Given the description of an element on the screen output the (x, y) to click on. 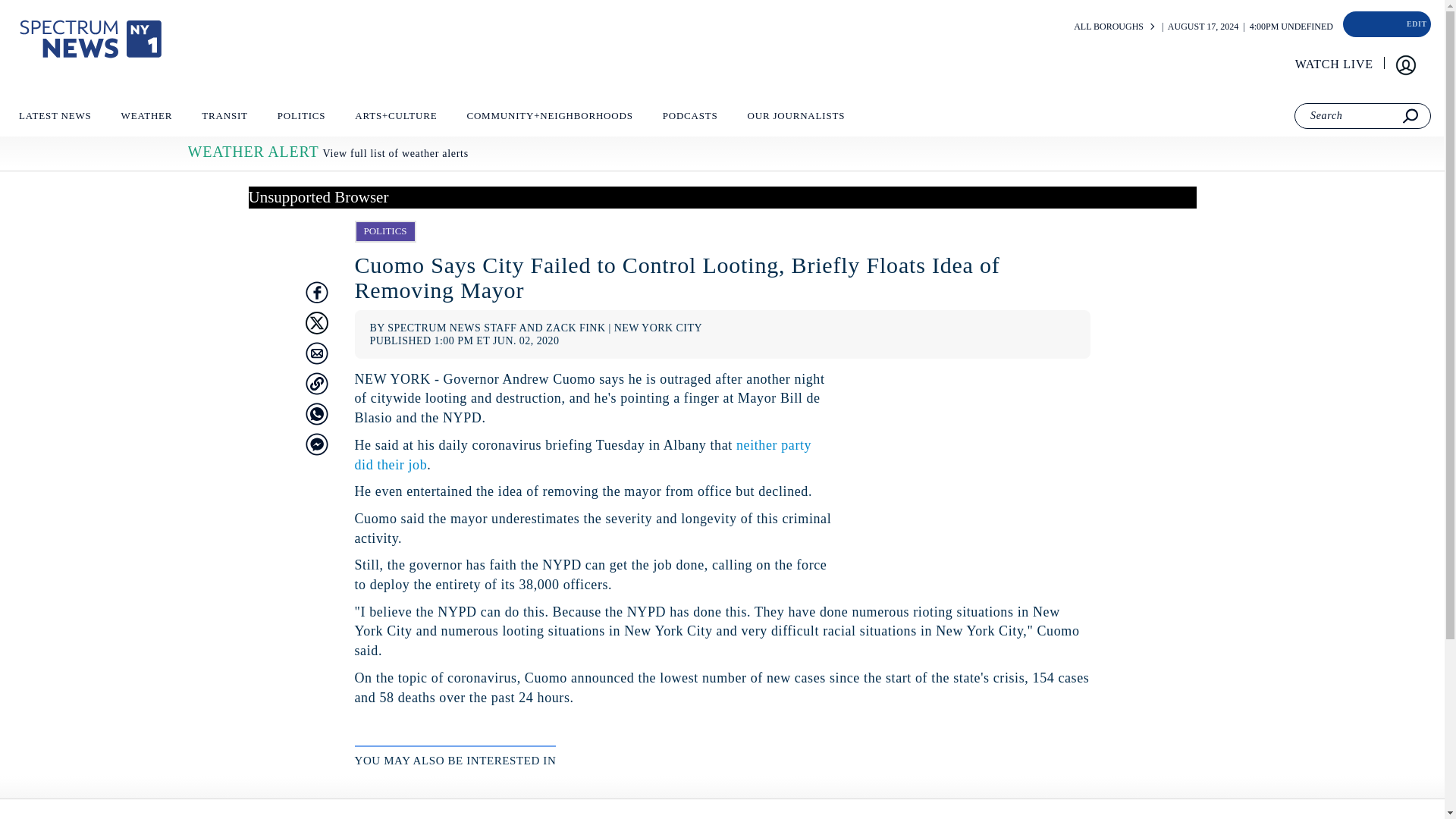
Share with Email (315, 353)
WATCH LIVE (1334, 64)
LATEST NEWS (55, 119)
Share with Facebook Messenger (315, 444)
Share with Whatsapp (315, 413)
WEATHER (146, 119)
ALL BOROUGHS (1108, 26)
Copy article link (315, 383)
Share with Facebook (315, 292)
Share with Twitter (315, 323)
